Given the description of an element on the screen output the (x, y) to click on. 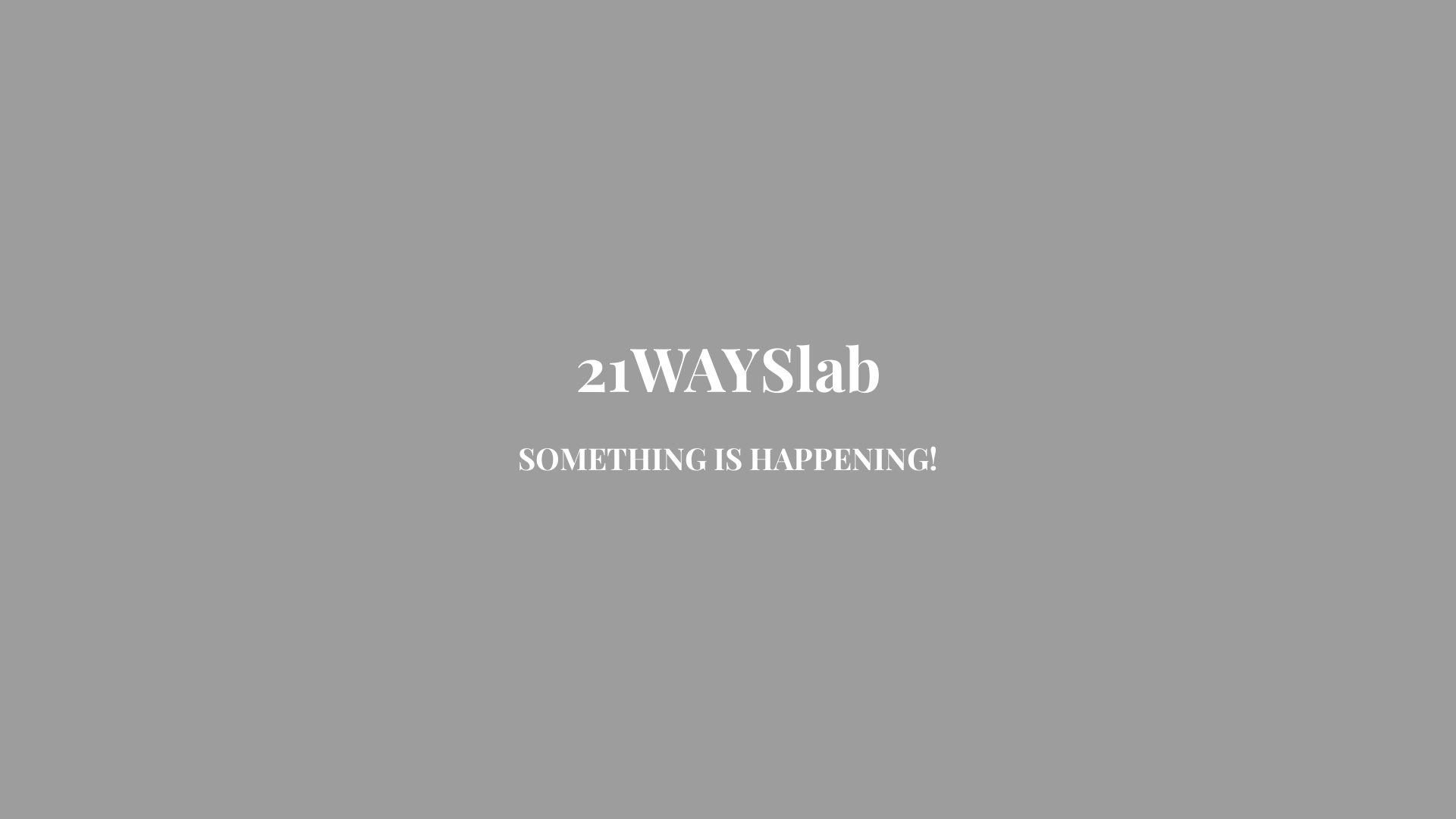
21WAYSlab Element type: text (727, 380)
